Given the description of an element on the screen output the (x, y) to click on. 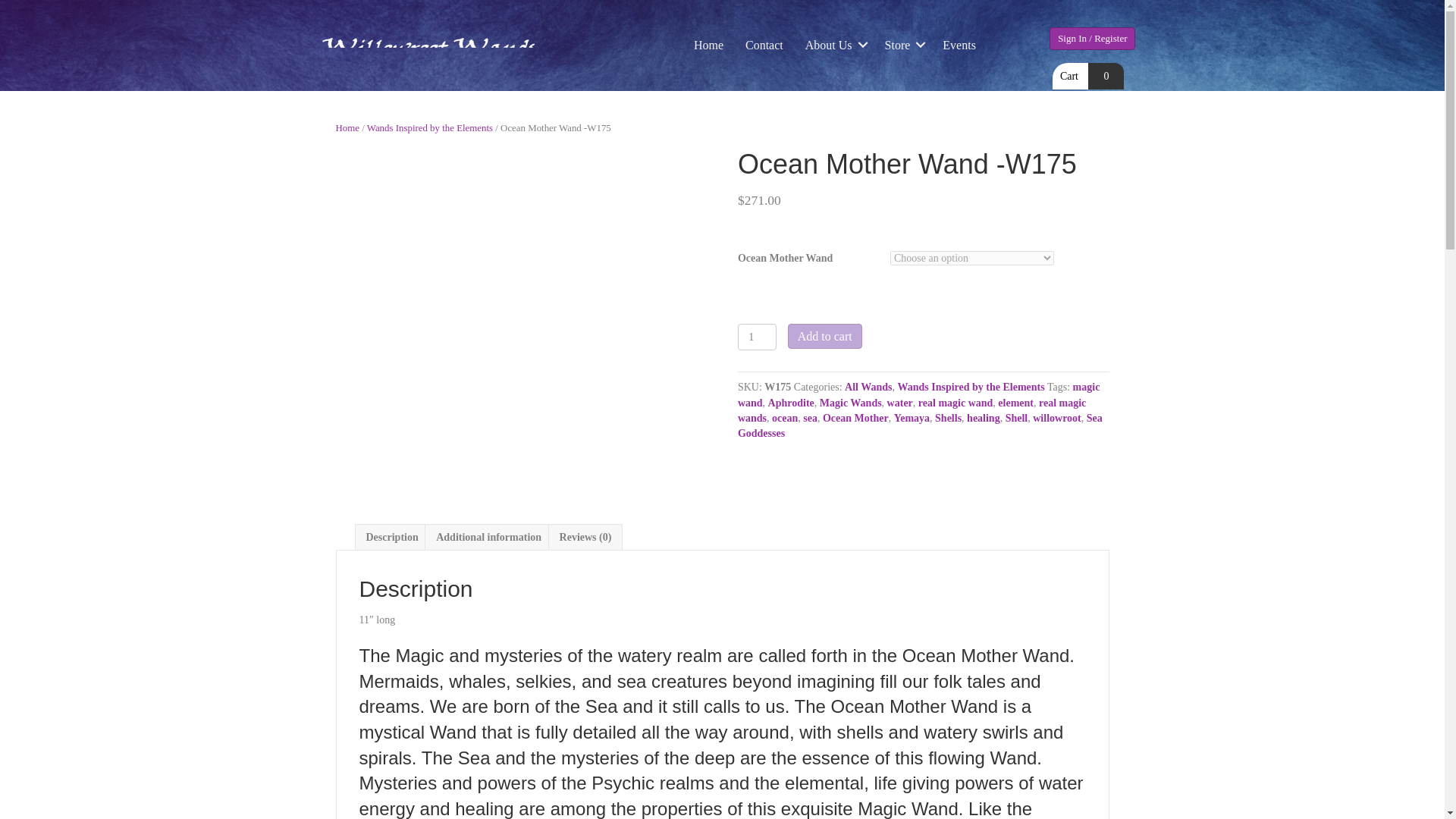
element (1015, 402)
Add to cart (824, 335)
Home (707, 44)
1 (757, 336)
Wands Inspired by the Elements (429, 127)
Wands Inspired by the Elements (969, 387)
Shells (947, 418)
Yemaya (911, 418)
real magic wand (955, 402)
Store (903, 44)
